Given the description of an element on the screen output the (x, y) to click on. 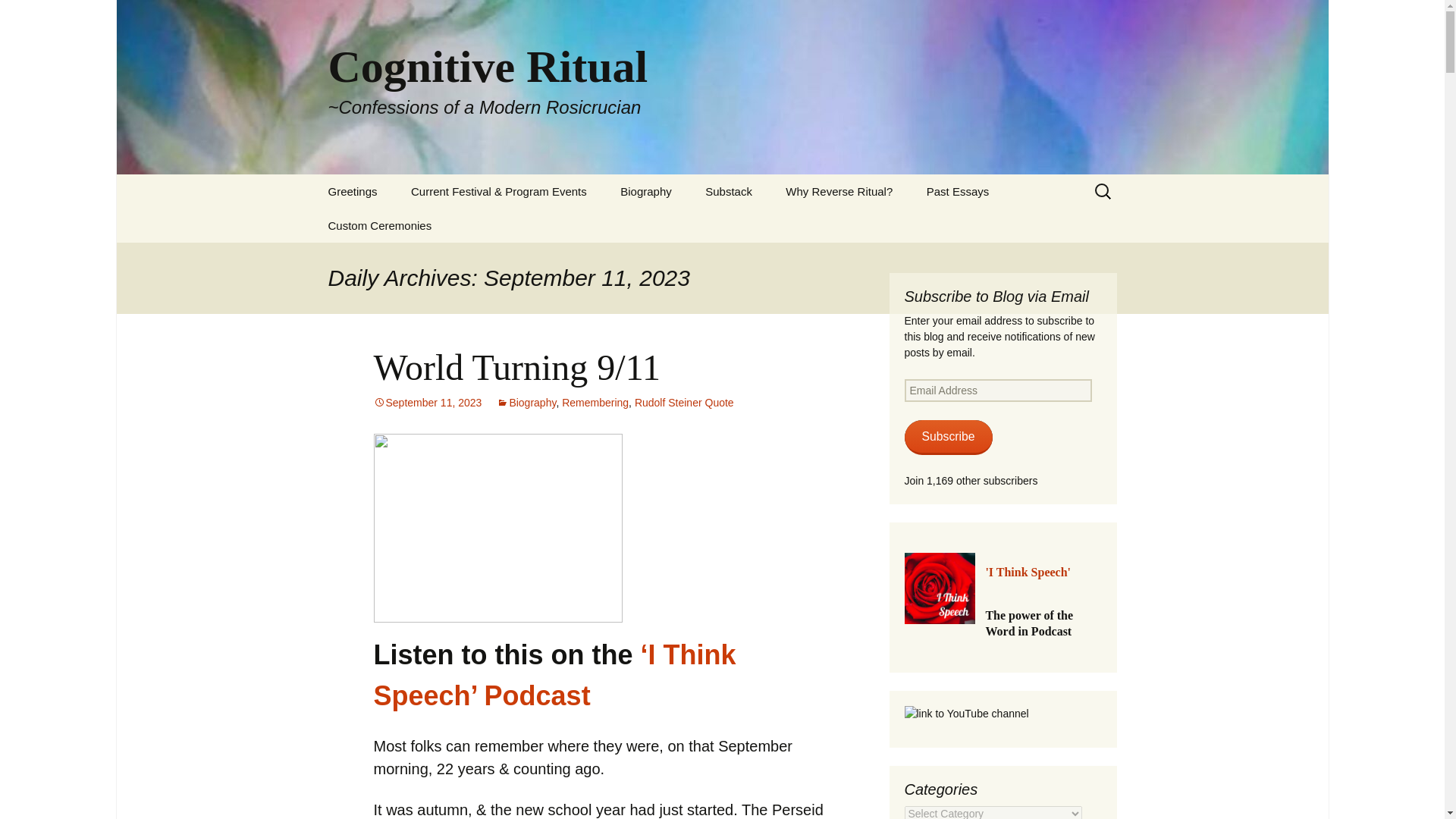
Search (18, 15)
What is an Anthroposophical Festival? (471, 236)
Greetings (352, 191)
Remembering (595, 402)
Biography (526, 402)
September 11, 2023 (426, 402)
What is Anthroposophy? (388, 230)
Biography (646, 191)
Why Reverse Ritual? (838, 191)
